Given the description of an element on the screen output the (x, y) to click on. 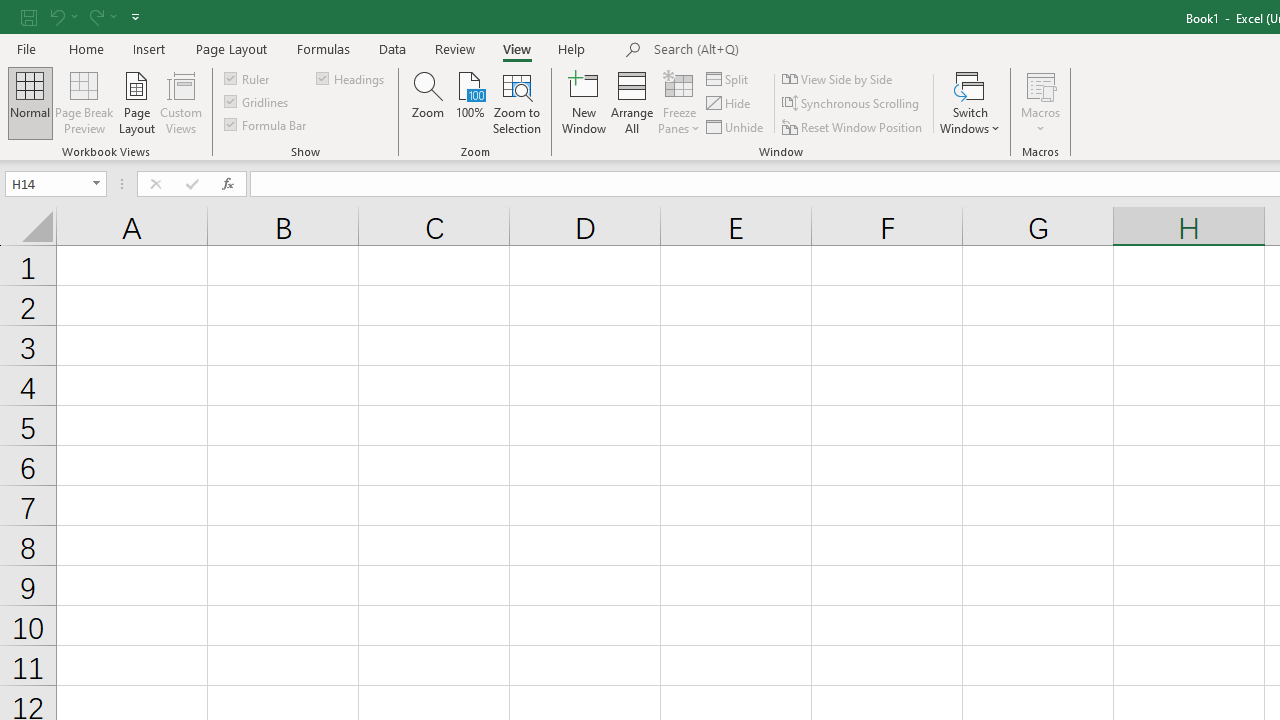
Freeze Panes (678, 102)
Ruler (248, 78)
100% (470, 102)
Synchronous Scrolling (852, 103)
